Given the description of an element on the screen output the (x, y) to click on. 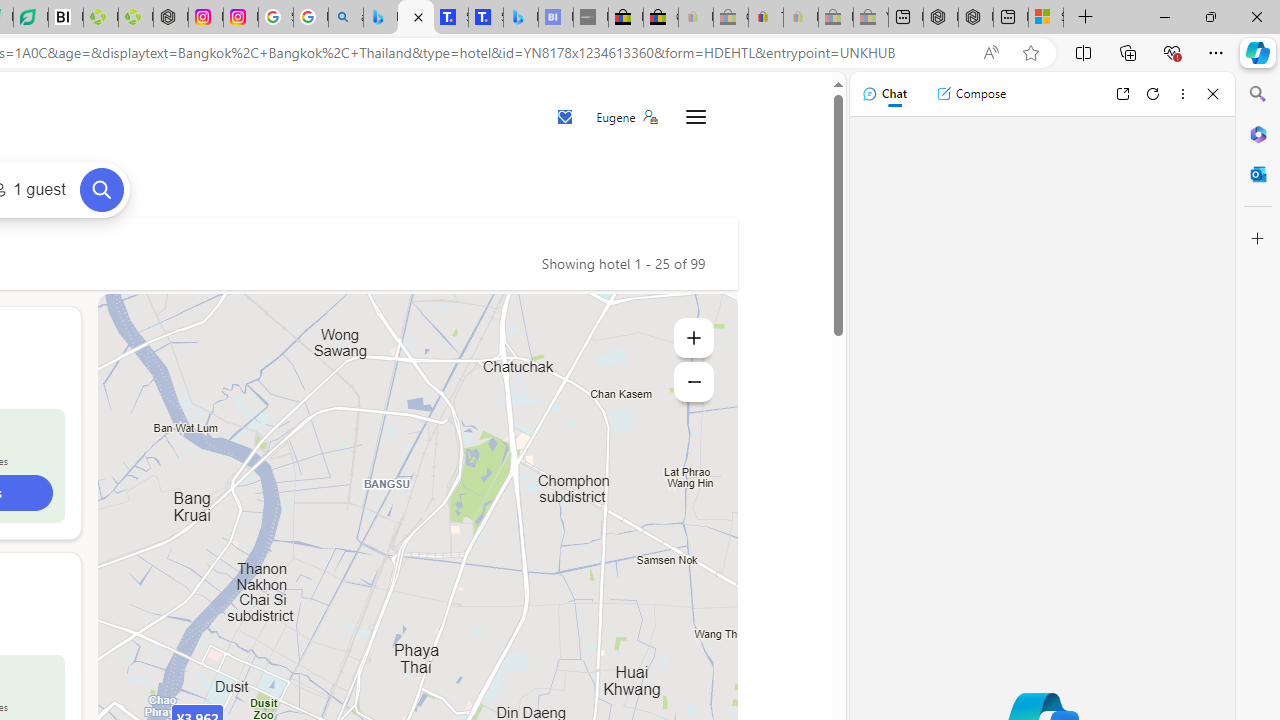
Zoom in (693, 337)
Zoom out (693, 381)
LendingTree - Compare Lenders (31, 17)
Open link in new tab (1122, 93)
Sign in to your Microsoft account (1046, 17)
Shangri-La Bangkok, Hotel reviews and Room rates (485, 17)
Payments Terms of Use | eBay.com - Sleeping (800, 17)
Microsoft Bing Travel - Shangri-La Hotel Bangkok (520, 17)
